Given the description of an element on the screen output the (x, y) to click on. 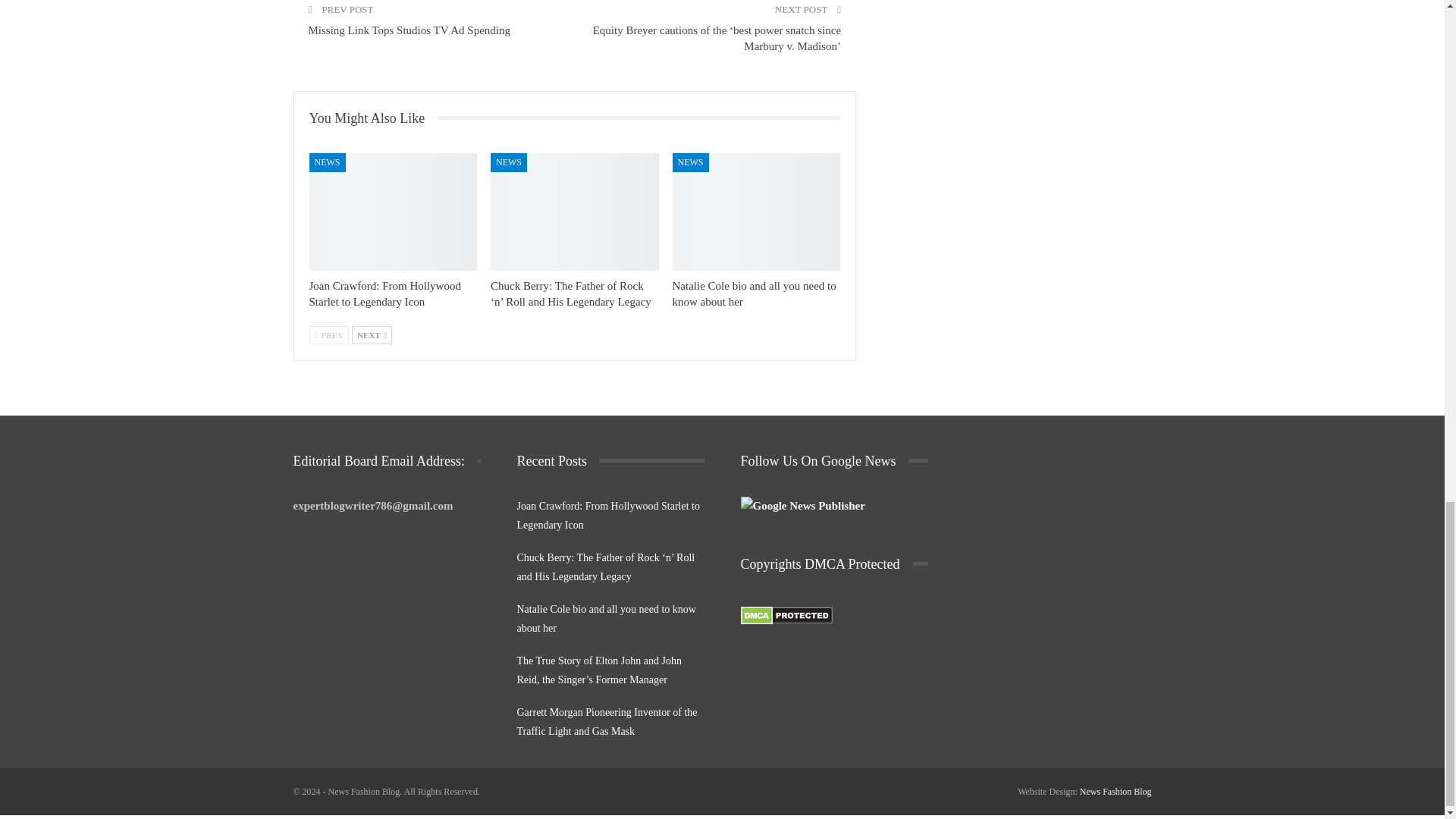
Joan Crawford: From Hollywood Starlet to Legendary Icon (384, 293)
Natalie Cole bio and all you need to know about her (756, 212)
Joan Crawford: From Hollywood Starlet to Legendary Icon (392, 212)
Previous (328, 334)
Next (371, 334)
Natalie Cole bio and all you need to know about her (753, 293)
DMCA.com Protection Status (785, 616)
